Given the description of an element on the screen output the (x, y) to click on. 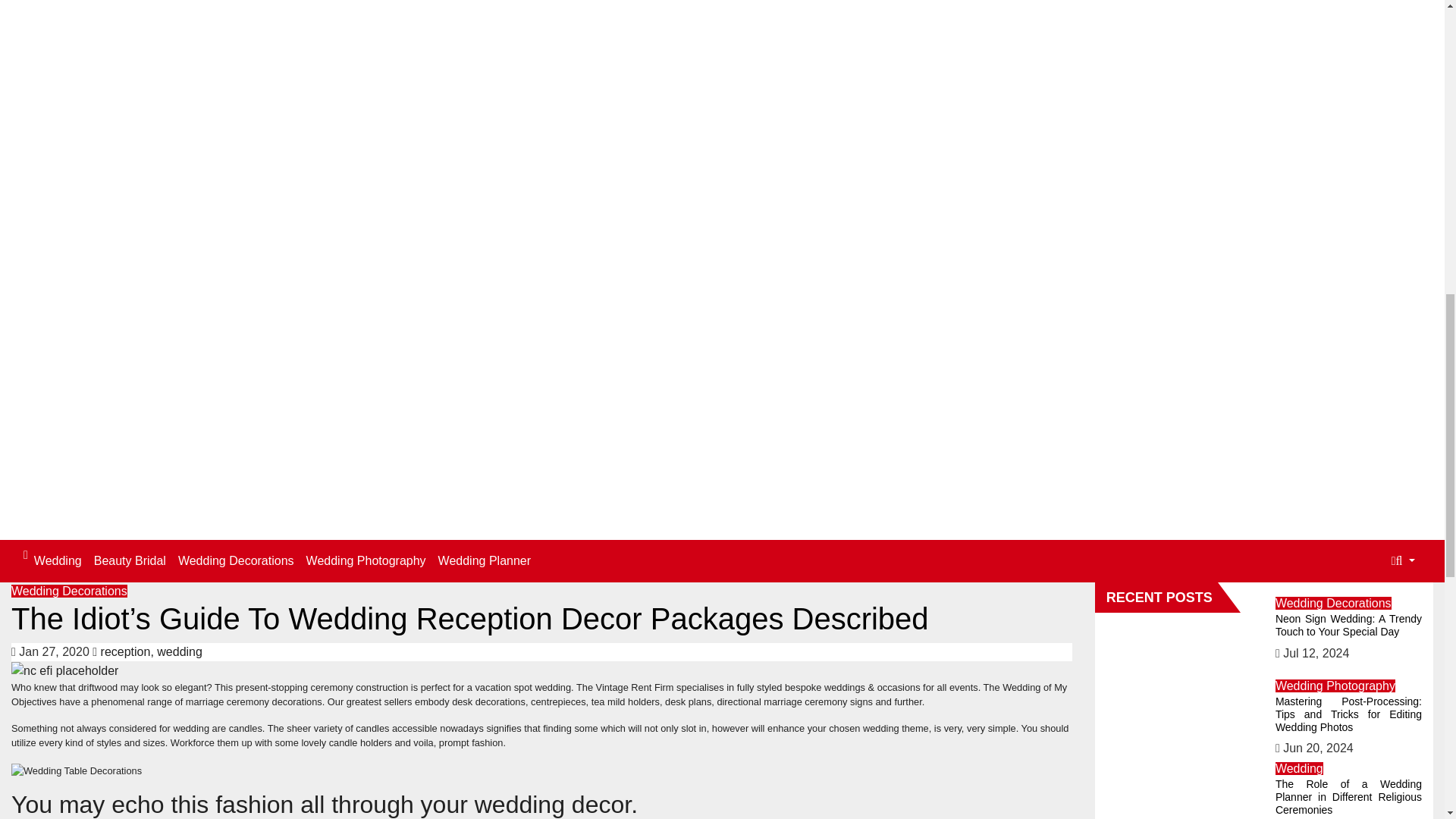
Wedding Photography (365, 561)
Jul 12, 2024 (1315, 653)
Wedding Decorations (235, 561)
Wedding (57, 561)
Wedding Photography (365, 561)
Beauty Bridal (129, 561)
Wedding Decorations (1333, 603)
reception (125, 651)
Beauty Bridal (129, 561)
Wedding Planner (484, 561)
Neon Sign Wedding: A Trendy Touch to Your Special Day (1348, 625)
Wedding Decorations (235, 561)
wedding (179, 651)
